Given the description of an element on the screen output the (x, y) to click on. 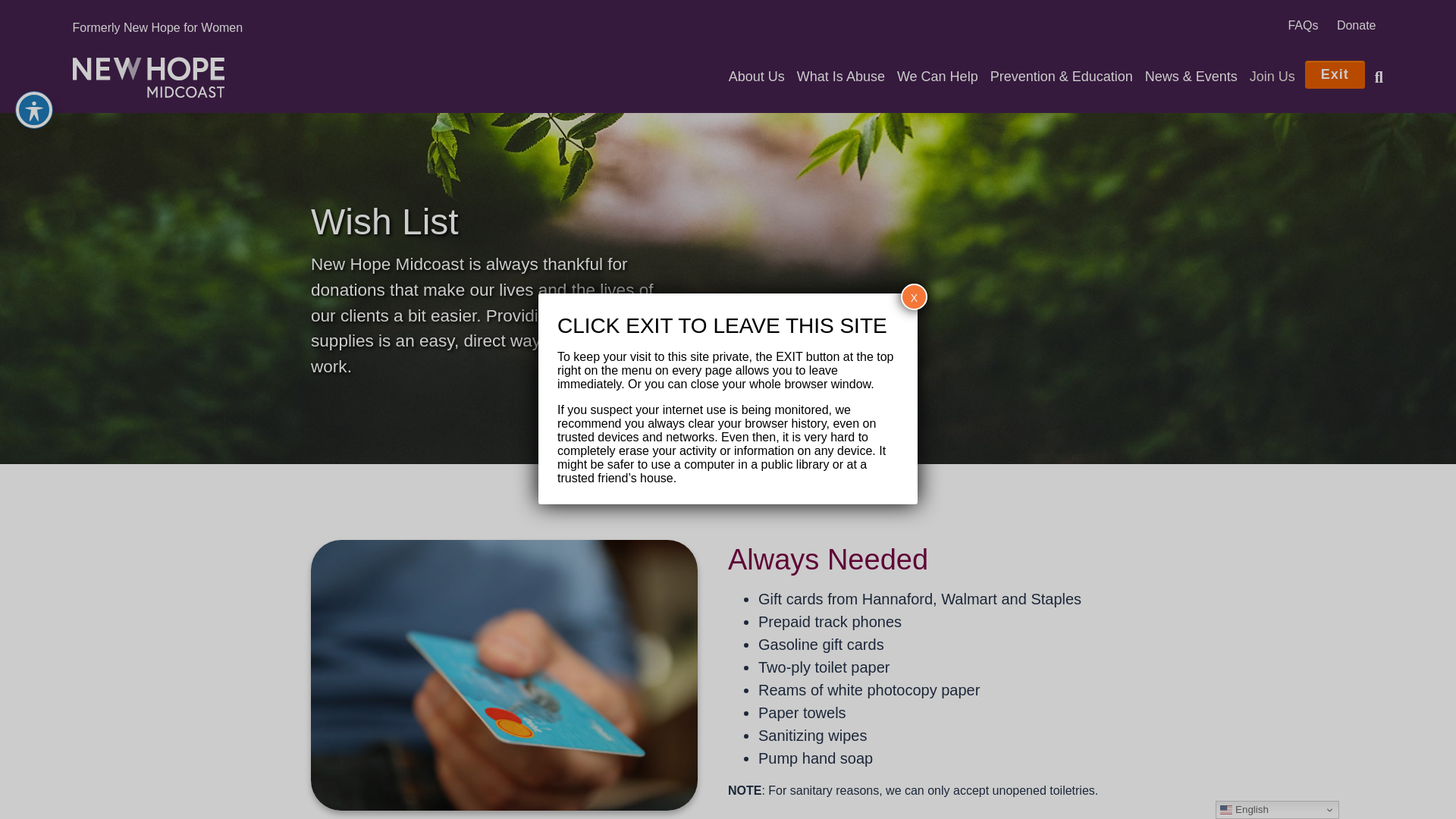
About Us (756, 76)
Credit card photo by Michal Jarmoluk (504, 674)
What Is Abuse (840, 76)
FAQs (1301, 25)
We Can Help (937, 76)
Donate (1356, 25)
Join Us (1272, 76)
